Given the description of an element on the screen output the (x, y) to click on. 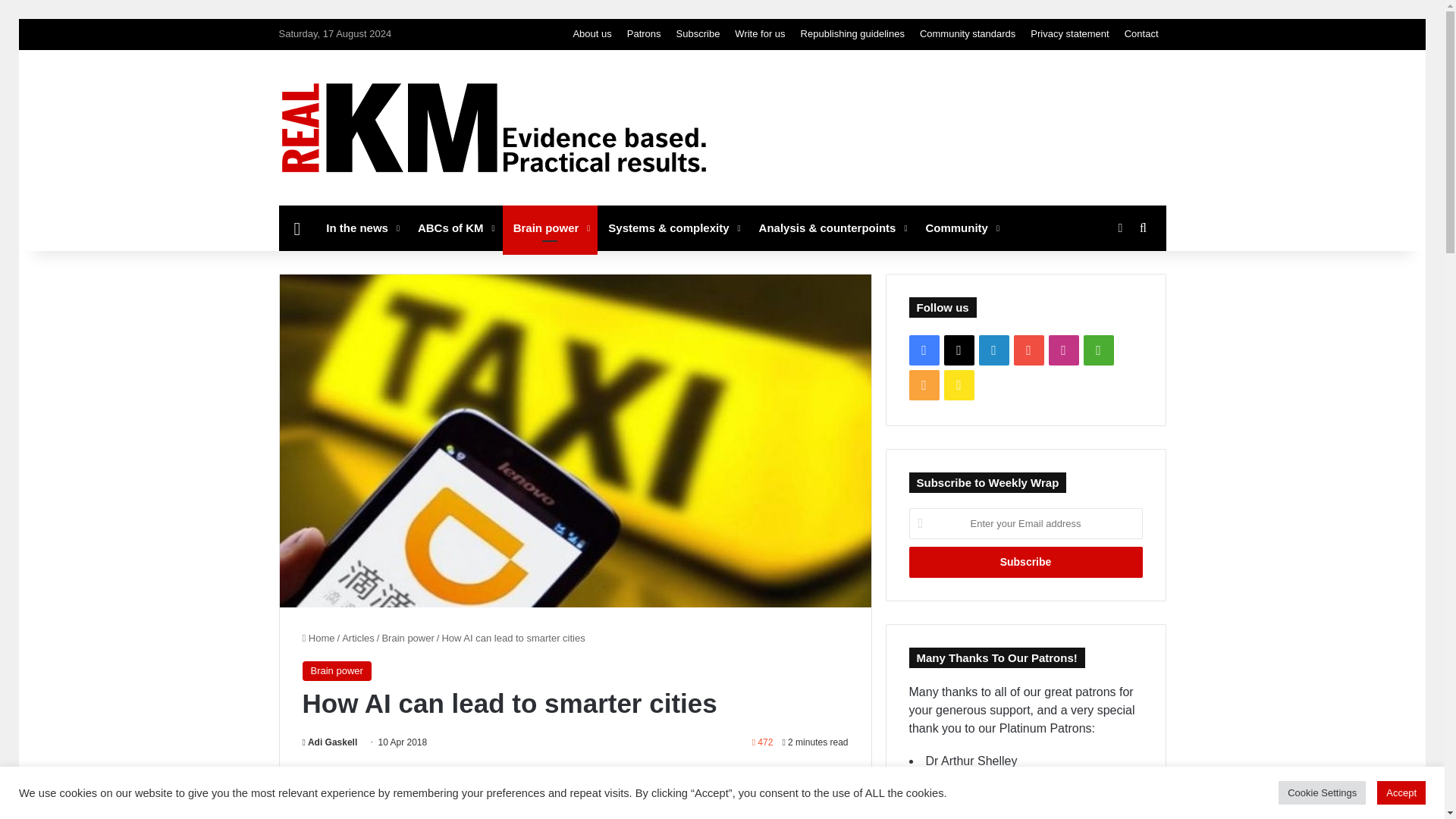
Brain power (550, 227)
Privacy statement (1069, 33)
Contact (1141, 33)
Write for us (759, 33)
Subscribe (1025, 562)
About us (591, 33)
In the news (361, 227)
Patrons (644, 33)
Community standards (967, 33)
Adi Gaskell (328, 742)
